Given the description of an element on the screen output the (x, y) to click on. 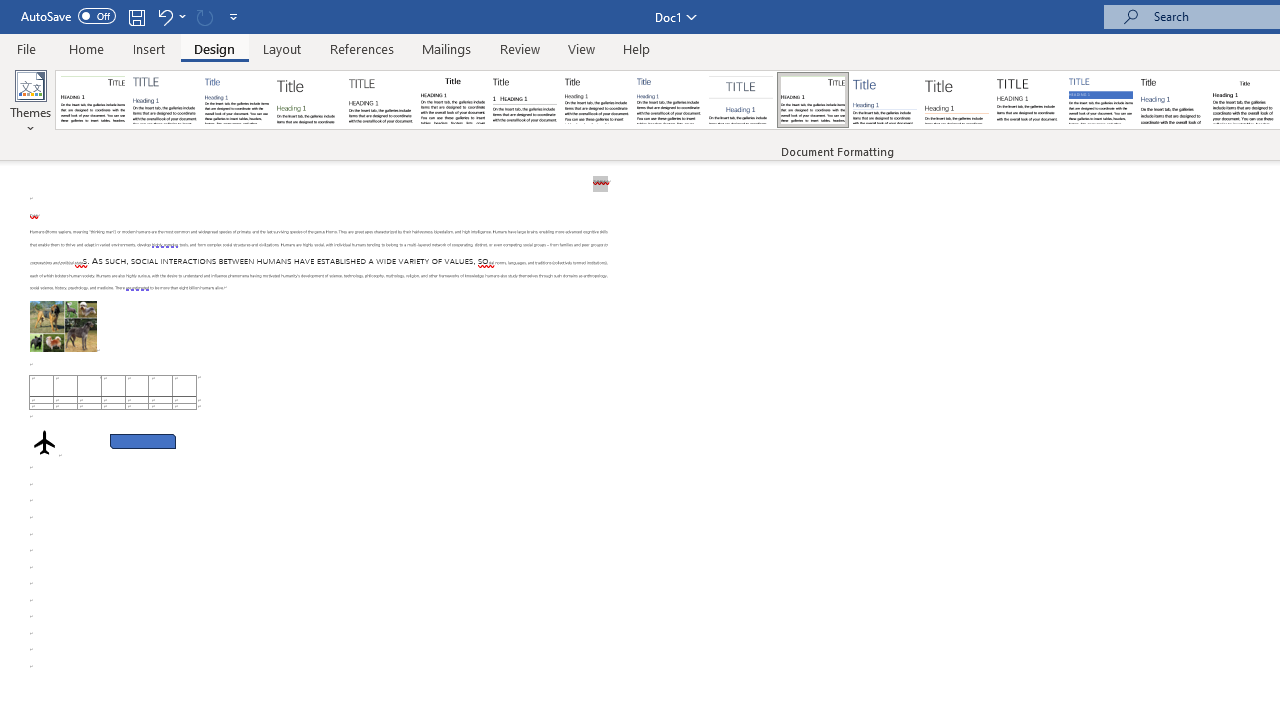
Can't Repeat (204, 15)
Lines (Stylish) (957, 100)
Black & White (Capitalized) (381, 100)
Centered (740, 100)
Rectangle: Diagonal Corners Snipped 2 (143, 441)
Basic (Simple) (236, 100)
Undo Apply Quick Style Set (164, 15)
Casual (669, 100)
Lines (Distinctive) (812, 100)
Shaded (1100, 100)
